Given the description of an element on the screen output the (x, y) to click on. 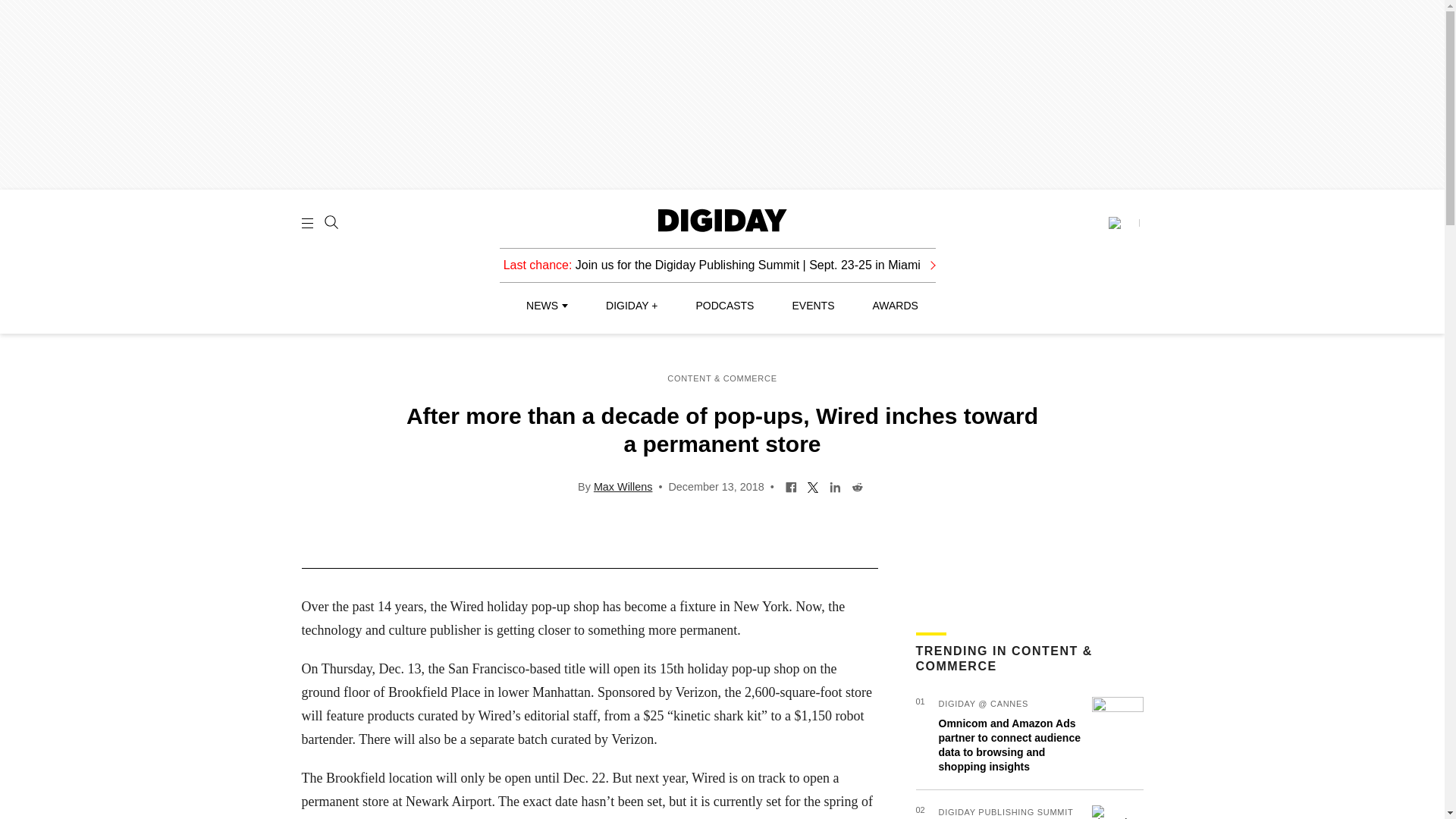
Subscribe (1123, 223)
EVENTS (813, 305)
AWARDS (894, 305)
Share on Facebook (790, 485)
NEWS (546, 305)
Share on Reddit (856, 485)
PODCASTS (725, 305)
Share on LinkedIn (834, 485)
Share on Twitter (812, 485)
